Given the description of an element on the screen output the (x, y) to click on. 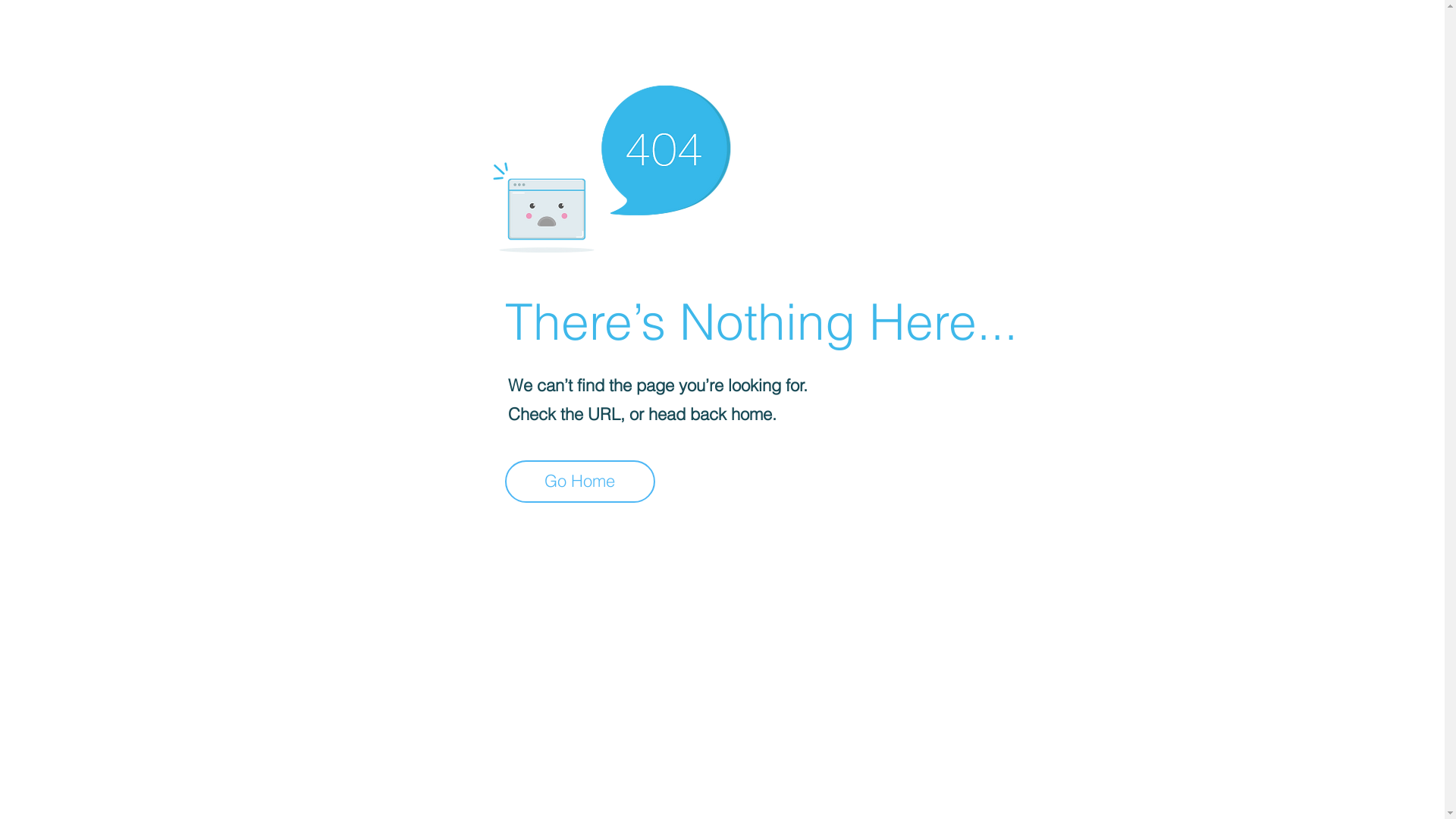
Go Home Element type: text (580, 481)
404-icon_2.png Element type: hover (610, 164)
